Given the description of an element on the screen output the (x, y) to click on. 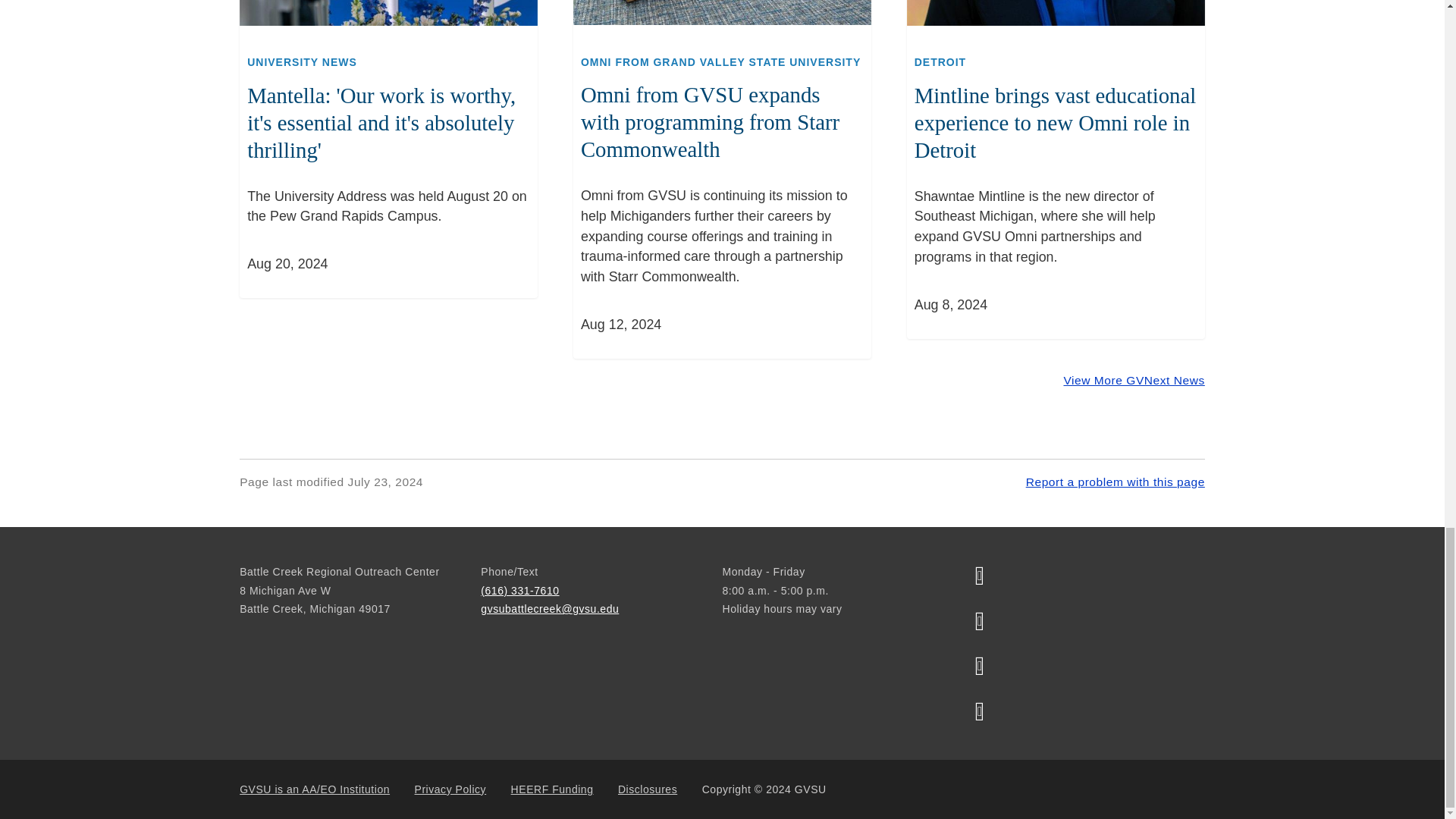
View More GVNext News (1133, 380)
OMNI FROM GRAND VALLEY STATE UNIVERSITY (720, 61)
Report a problem with this page (1115, 481)
DETROIT (940, 61)
UNIVERSITY NEWS (301, 61)
